Given the description of an element on the screen output the (x, y) to click on. 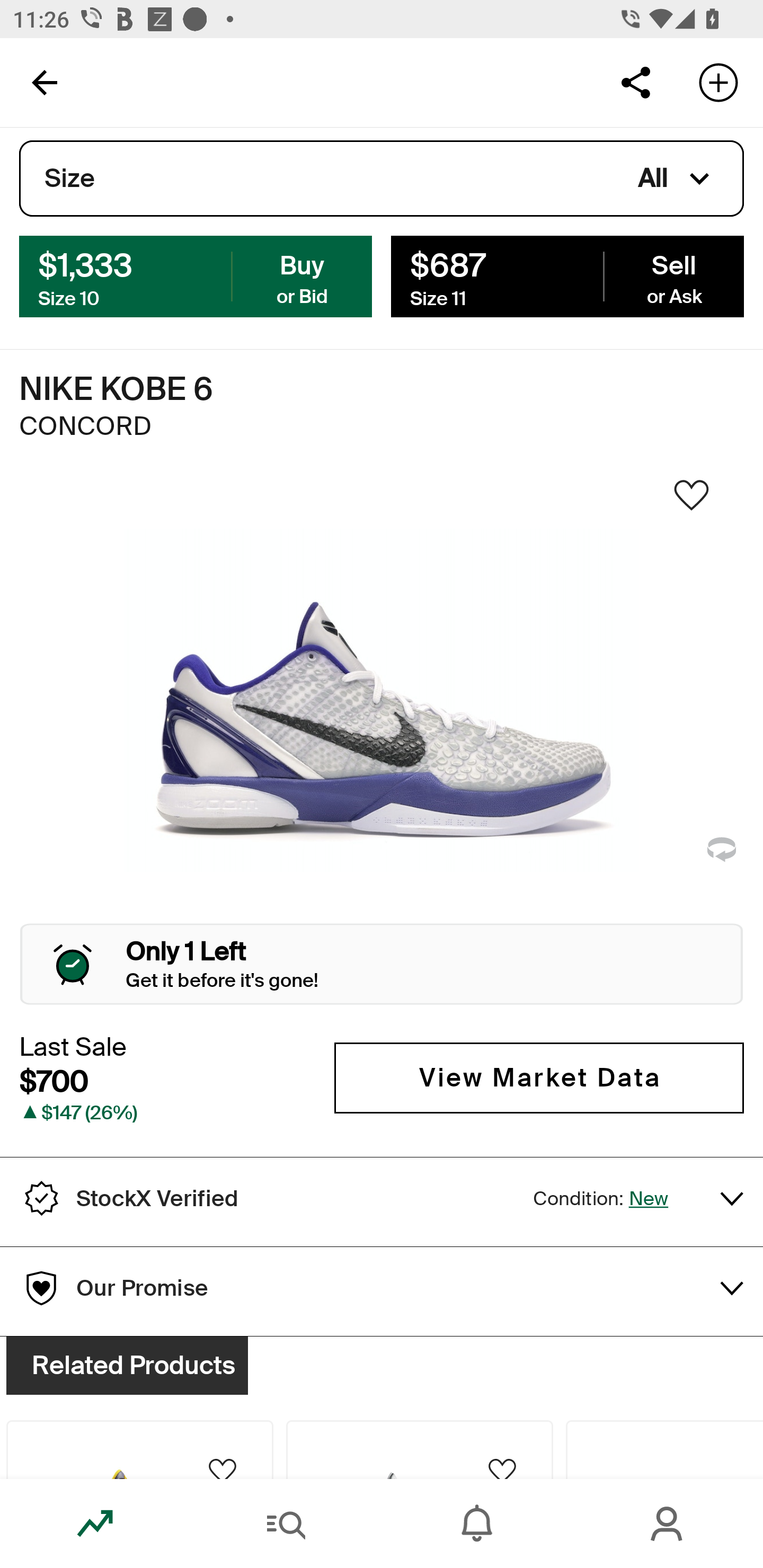
Share (635, 81)
Add (718, 81)
Size All (381, 178)
$146 Buy Size 4.5 or Bid (195, 275)
$260 Sell Size 12.5 or Ask (566, 275)
Sneaker Image (381, 699)
View Market Data (538, 1077)
Search (285, 1523)
Inbox (476, 1523)
Account (667, 1523)
